Given the description of an element on the screen output the (x, y) to click on. 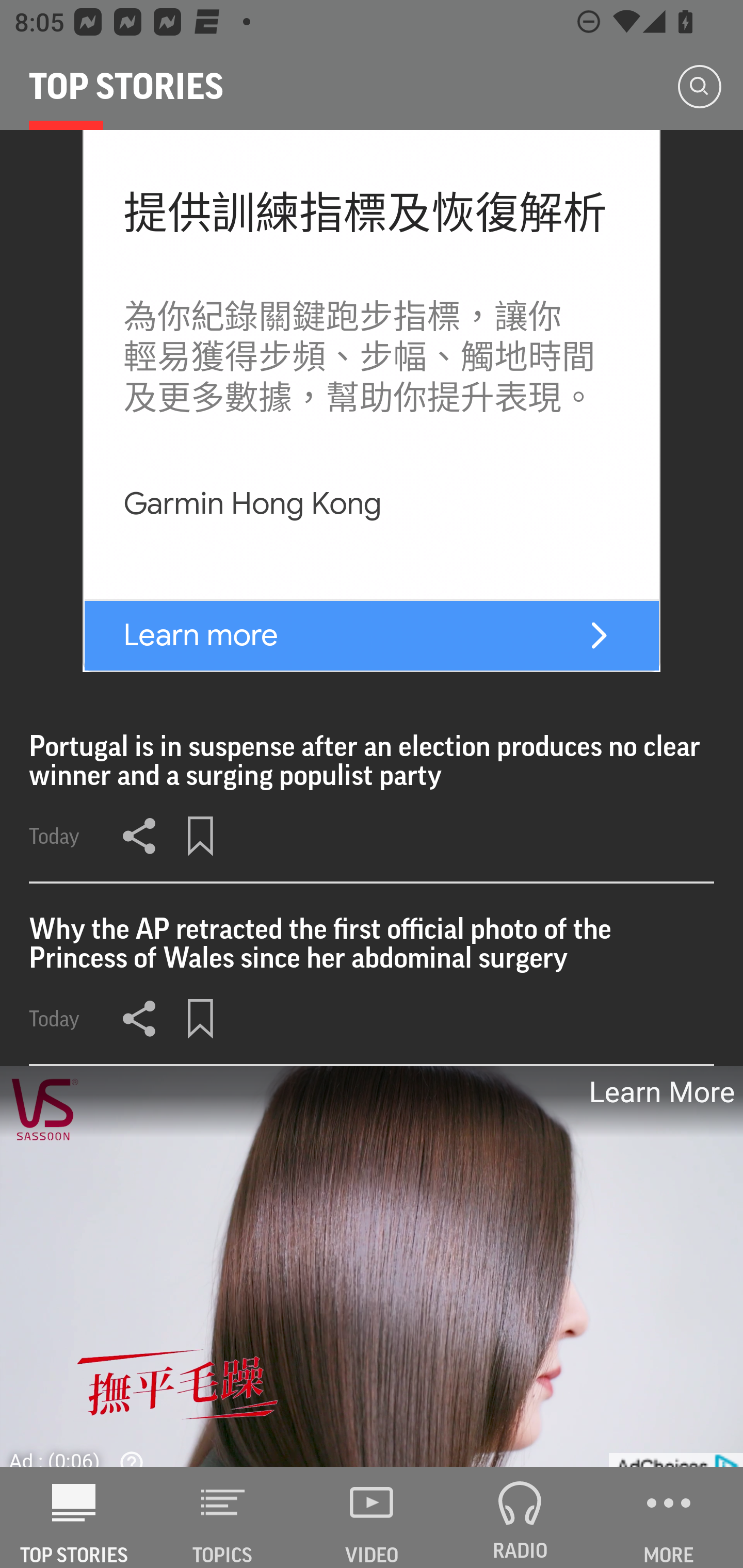
提供訓練指標及恢復解析 (364, 214)
Garmin Hong Kong (252, 503)
forerunner-165-music-black (598, 635)
Learn more (200, 635)
Learn More (660, 1091)
AP News TOP STORIES (74, 1517)
TOPICS (222, 1517)
VIDEO (371, 1517)
RADIO (519, 1517)
MORE (668, 1517)
